Given the description of an element on the screen output the (x, y) to click on. 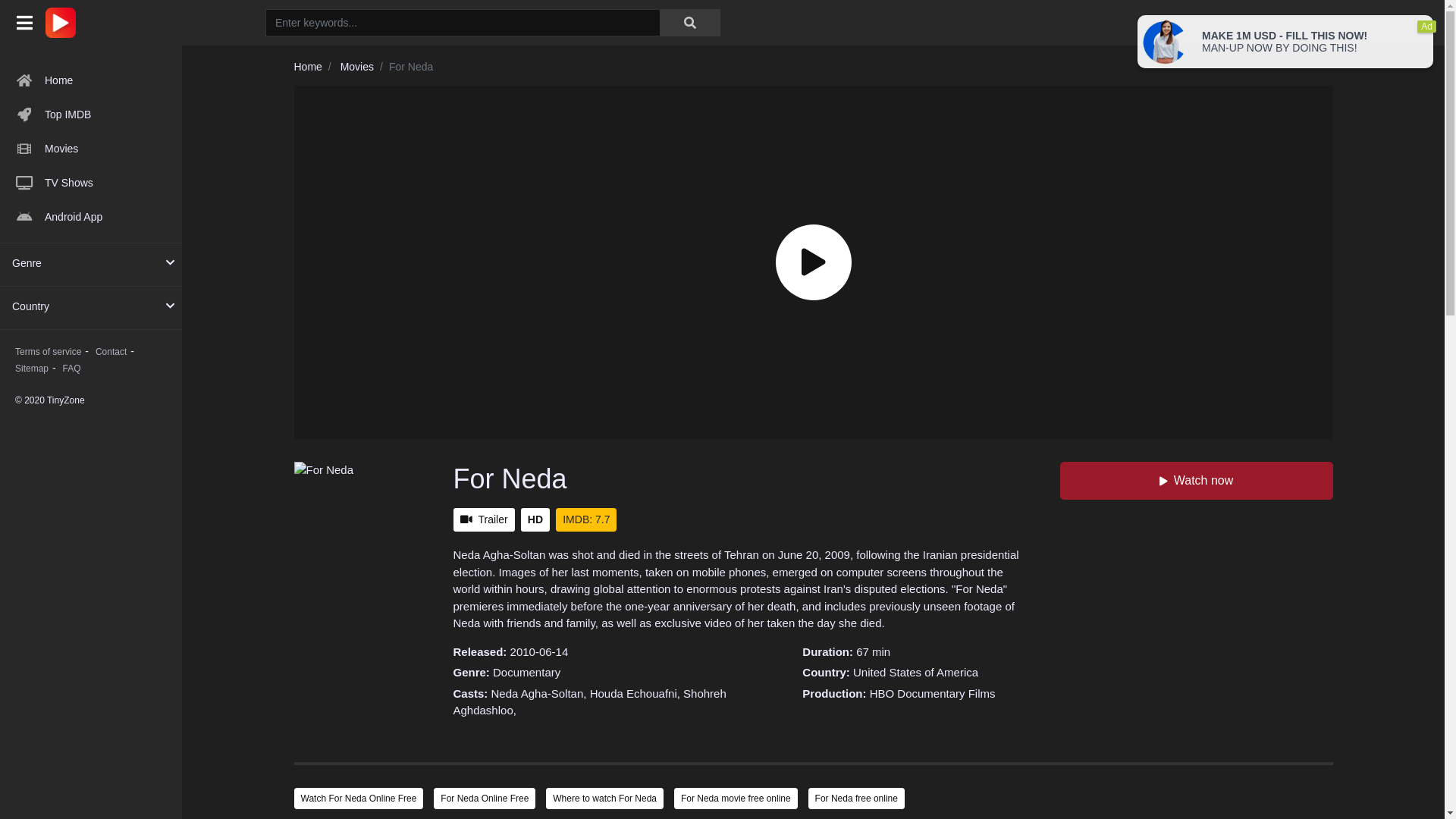
Top IMDB Element type: text (91, 114)
Country Element type: text (30, 306)
Movies Element type: text (356, 66)
HBO Documentary Films Element type: text (932, 693)
Neda Agha-Soltan Element type: text (537, 693)
For Neda Element type: hover (362, 562)
HD Element type: text (534, 519)
Home Element type: text (308, 66)
TinyZone Element type: hover (64, 22)
For Neda Element type: text (510, 478)
Genre Element type: text (26, 263)
FAQ Element type: text (71, 368)
TV Shows Element type: text (91, 182)
Sitemap Element type: text (31, 368)
Home Element type: text (91, 80)
Documentary Element type: text (526, 671)
IMDB: 7.7 Element type: text (585, 519)
Shohreh Aghdashloo Element type: text (589, 702)
United States of America Element type: text (915, 671)
Android App Element type: text (91, 216)
Contact Element type: text (110, 351)
Trailer Element type: text (483, 519)
Houda Echouafni Element type: text (633, 693)
TinyZone Element type: hover (60, 22)
Watch now Element type: text (1196, 480)
Movies Element type: text (91, 148)
Terms of service Element type: text (48, 351)
